Given the description of an element on the screen output the (x, y) to click on. 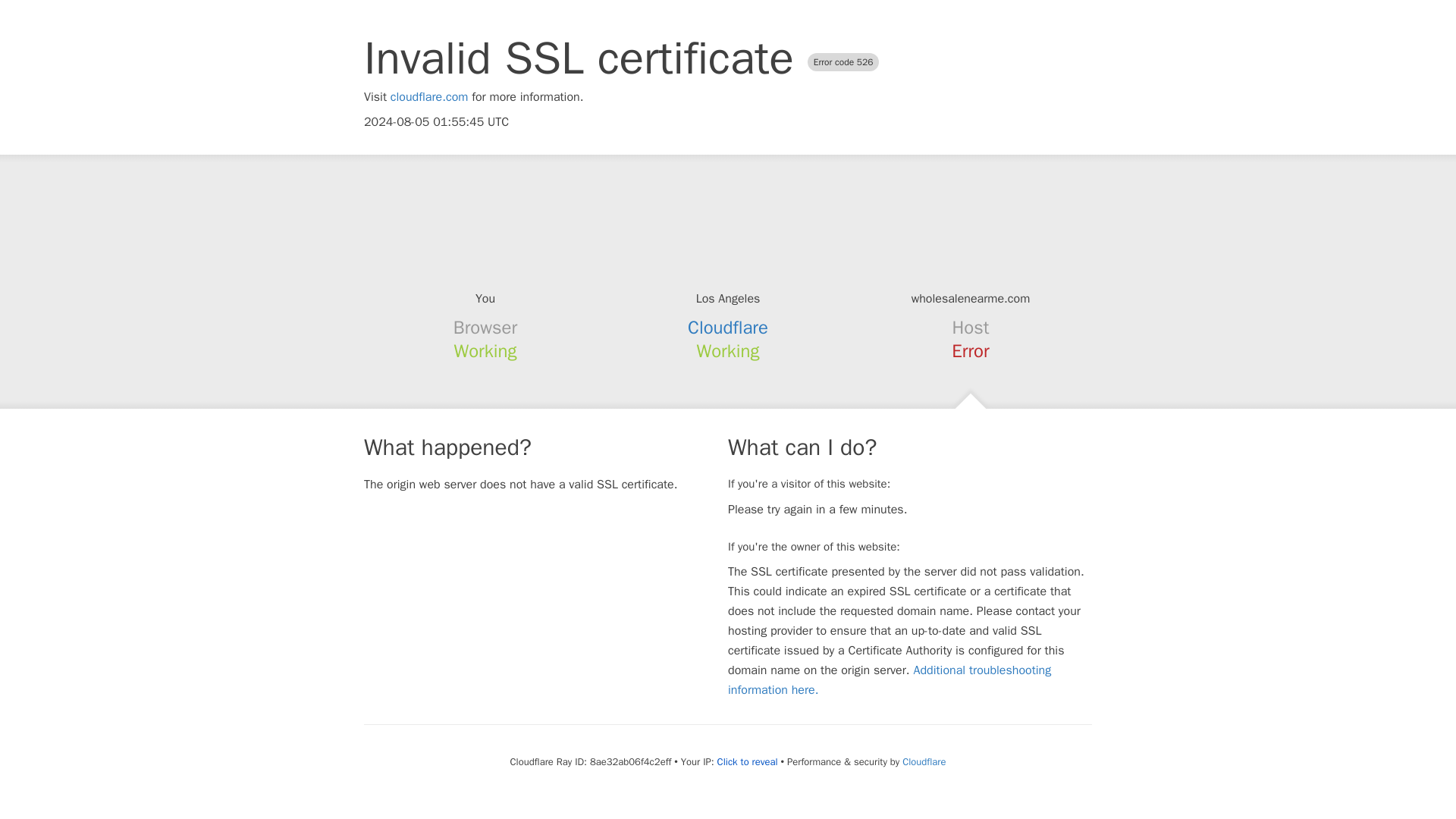
cloudflare.com (429, 96)
Cloudflare (923, 761)
Additional troubleshooting information here. (889, 679)
Click to reveal (747, 762)
Cloudflare (727, 327)
